Given the description of an element on the screen output the (x, y) to click on. 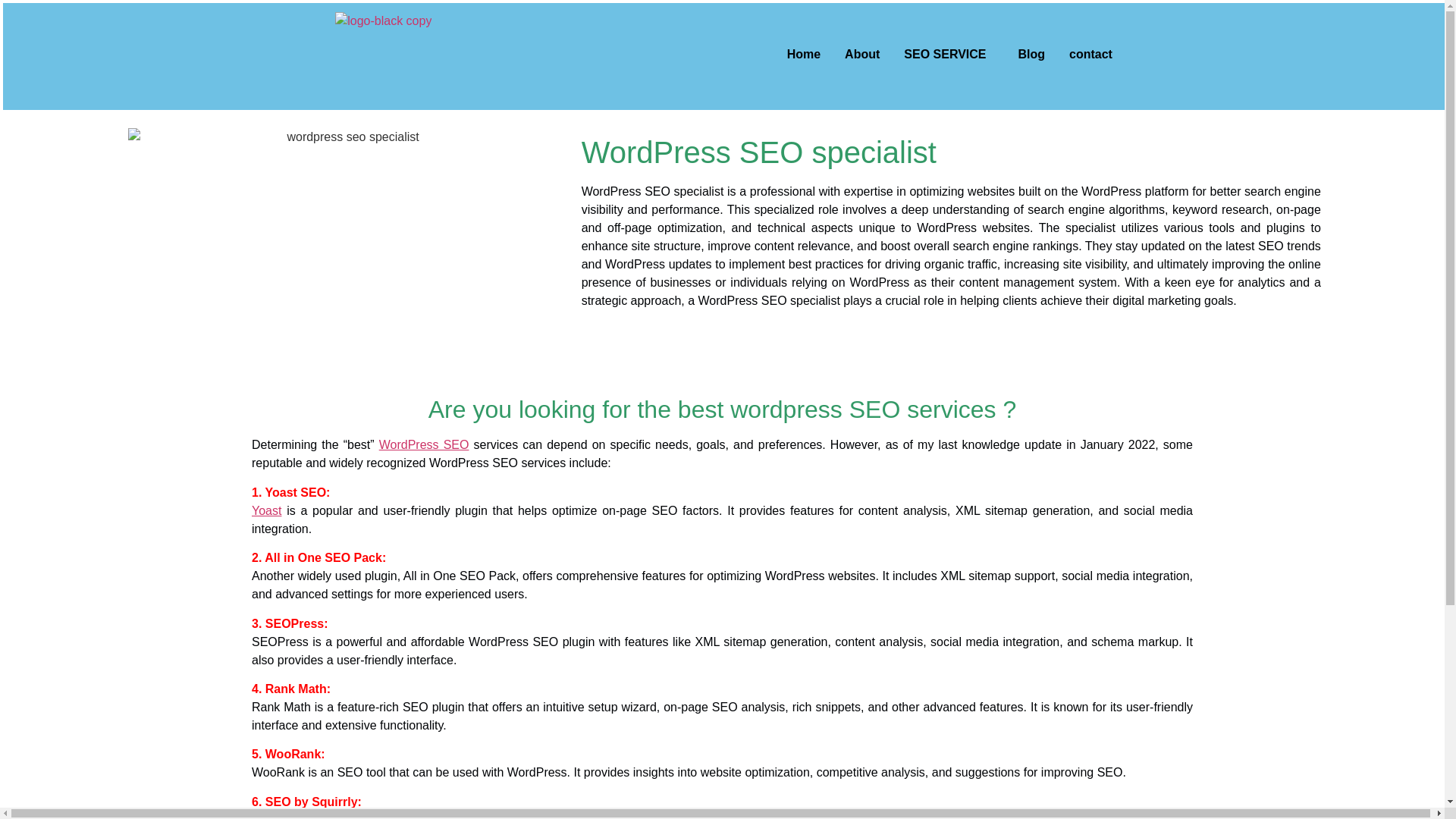
WordPress SEO (423, 444)
Home (803, 54)
Blog (1031, 54)
About (861, 54)
contact (1090, 54)
SEO SERVICE (948, 54)
Yoast (266, 510)
